Given the description of an element on the screen output the (x, y) to click on. 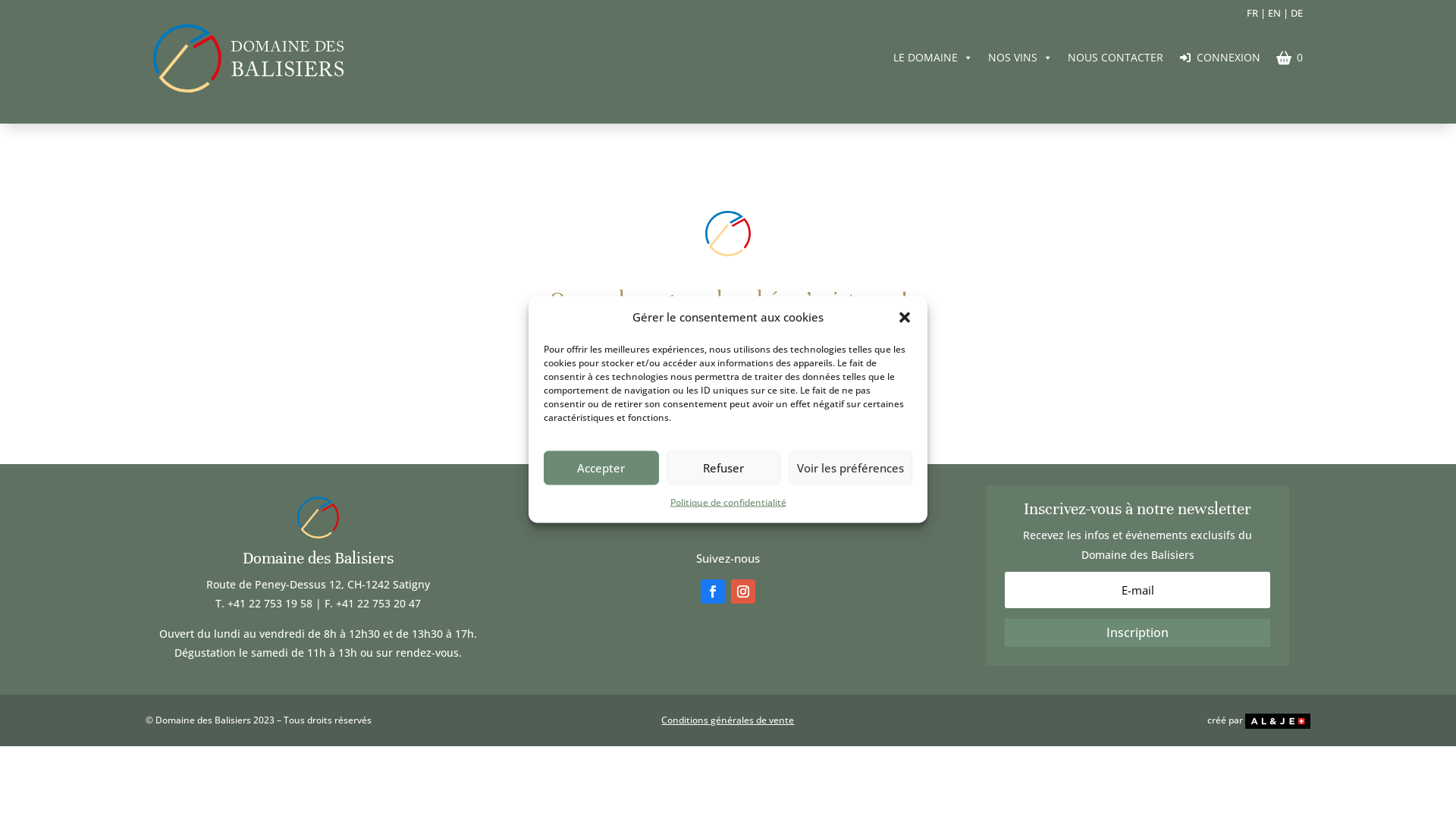
Suivez sur Facebook Element type: hover (712, 591)
LE DOMAINE Element type: text (932, 56)
retour sur la page d'accueil Element type: text (727, 363)
Refuser Element type: text (723, 467)
Inscription Element type: text (1137, 632)
Accepter Element type: text (600, 467)
Suivez sur Instagram Element type: hover (743, 591)
FR Element type: text (1252, 12)
CONNEXION Element type: text (1218, 56)
ico_balisiers Element type: hover (727, 233)
0 Element type: text (1289, 56)
DE Element type: text (1296, 12)
EN Element type: text (1273, 12)
NOS VINS Element type: text (1020, 56)
NOUS CONTACTER Element type: text (1115, 56)
